Given the description of an element on the screen output the (x, y) to click on. 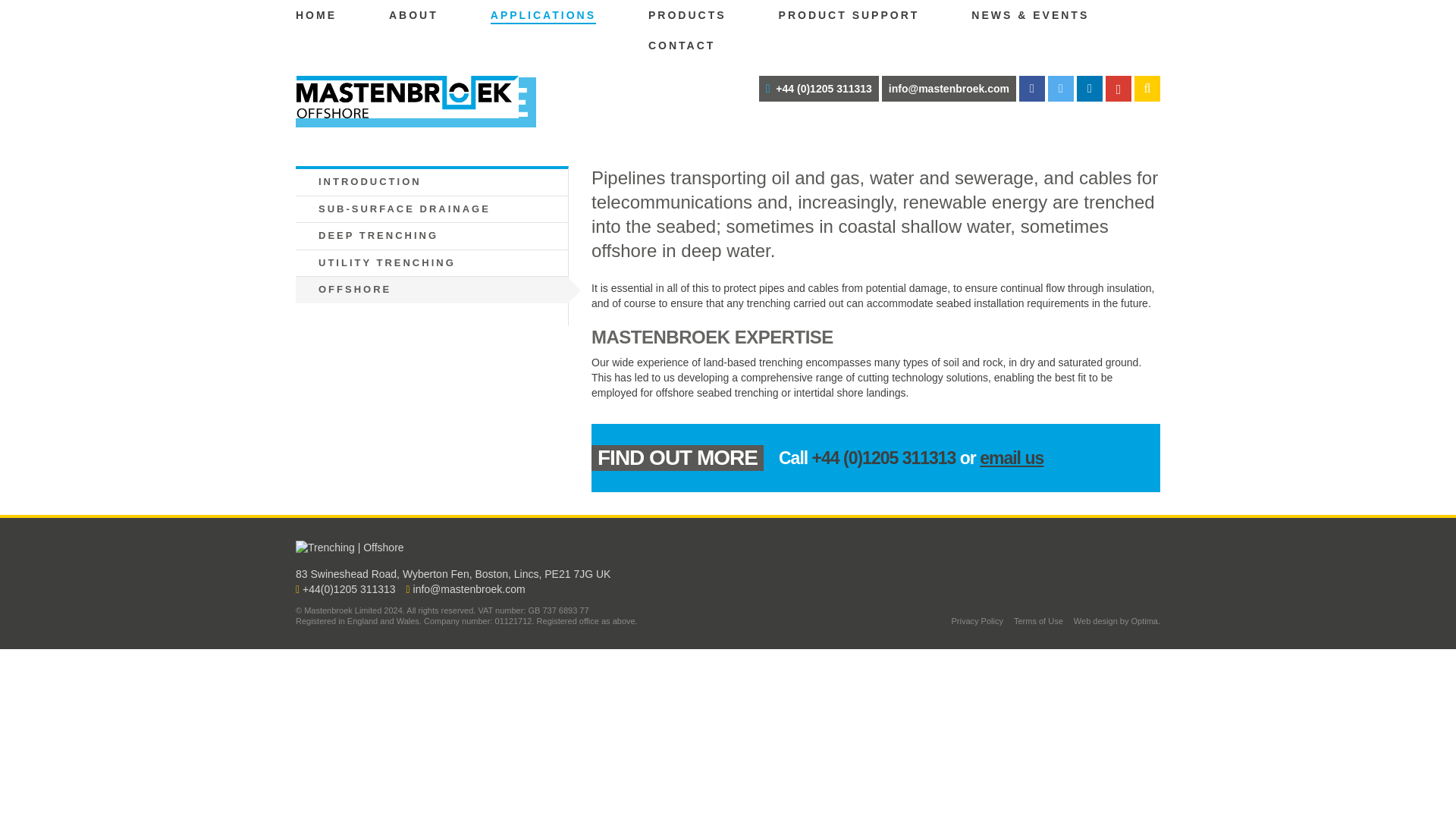
Take me to the top (1147, 526)
PRODUCTS (686, 14)
ABOUT (413, 14)
HOME (315, 14)
APPLICATIONS (542, 15)
